Given the description of an element on the screen output the (x, y) to click on. 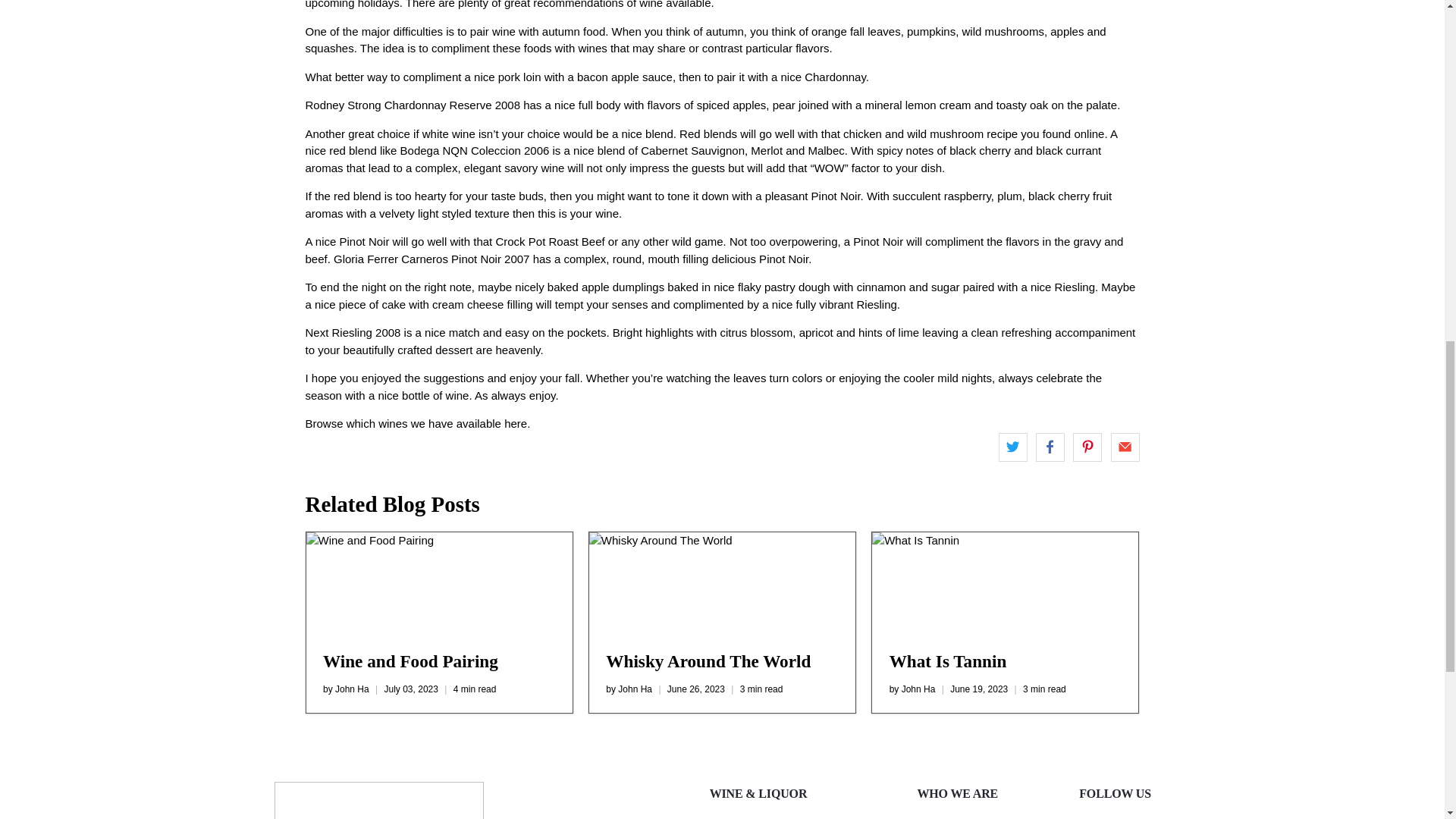
Email this to a friend (1123, 447)
Share this on Twitter (1012, 447)
Whisky Around The World (722, 582)
Whisky Around The World (707, 660)
Wine and Food Pairing (410, 660)
Share this on Pinterest (1087, 447)
Share this on Facebook (1049, 447)
Wine and Food Pairing (438, 582)
What Is Tannin (1005, 582)
